Given the description of an element on the screen output the (x, y) to click on. 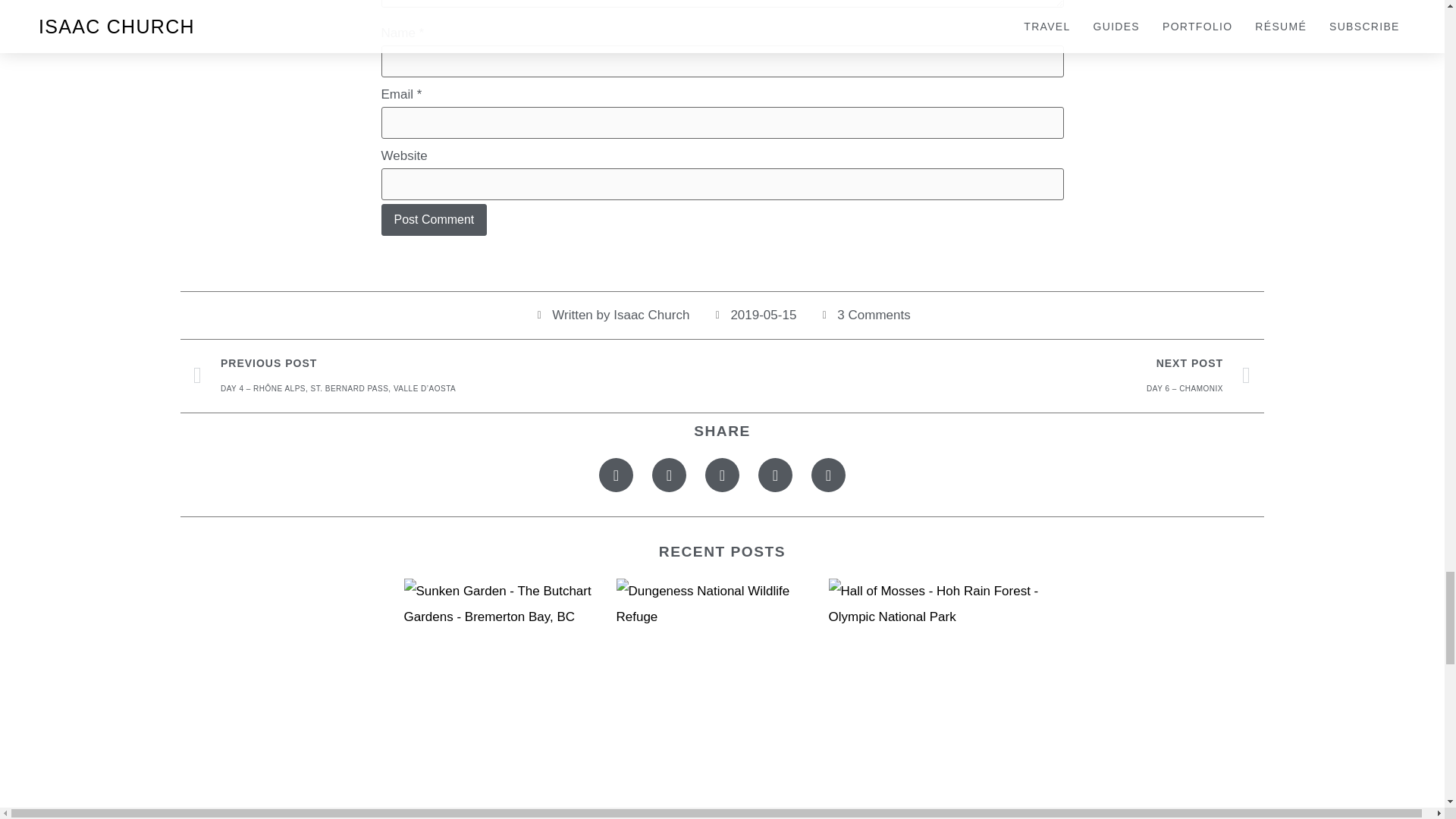
Post Comment (433, 219)
